Given the description of an element on the screen output the (x, y) to click on. 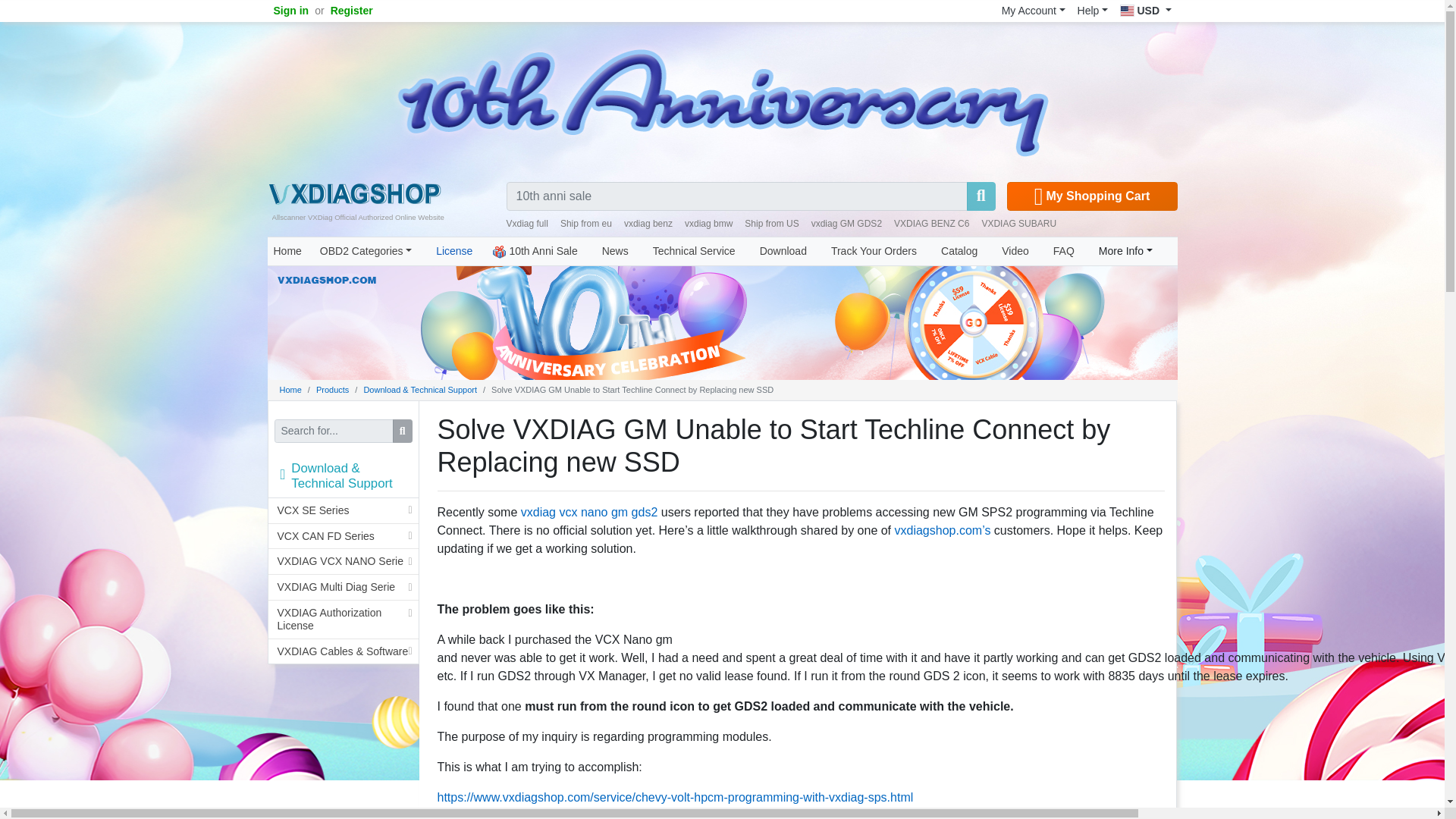
Ship from eu (585, 223)
Register (351, 11)
OBD2 Categories (365, 251)
Vxdiag full (527, 223)
Ship from US (770, 223)
Allscanner VXDiag Official Authorized Online Website (353, 192)
vxdiag bmw (708, 223)
VXDIAG SUBARU (1019, 223)
USD (1145, 11)
vxdiag benz (648, 223)
